Given the description of an element on the screen output the (x, y) to click on. 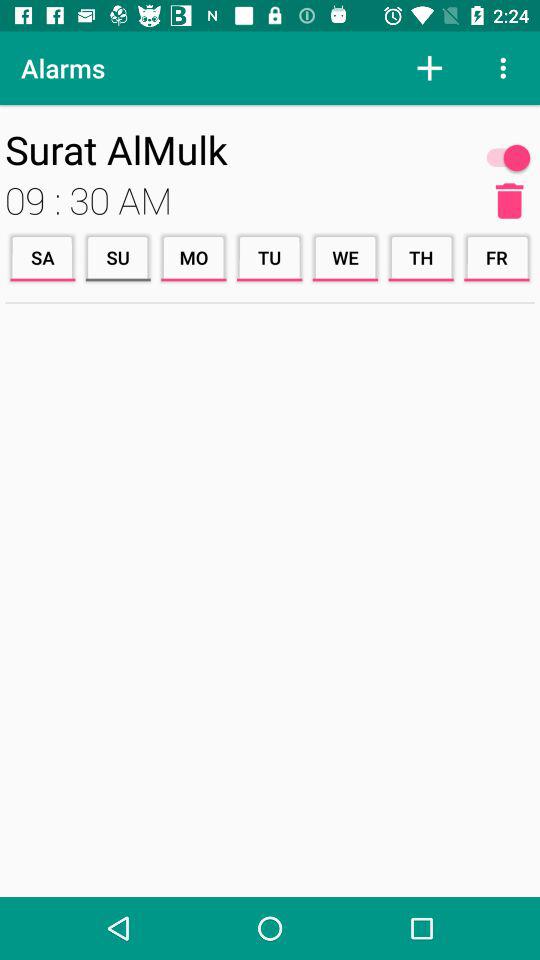
click icon below the 09 : 30 am (269, 257)
